Given the description of an element on the screen output the (x, y) to click on. 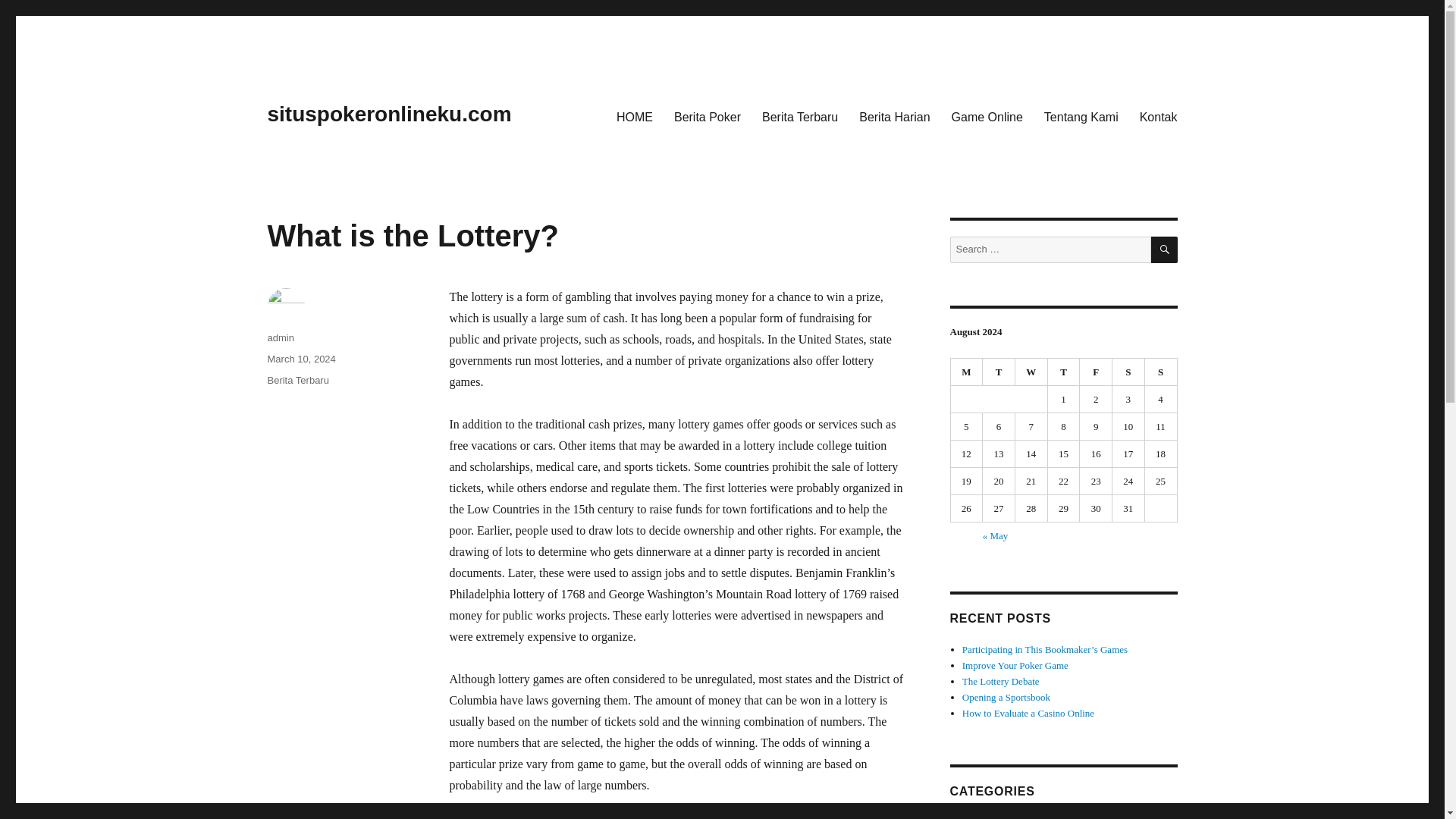
The Lottery Debate (1000, 681)
Thursday (1064, 371)
Saturday (1128, 371)
Berita Harian (988, 817)
SEARCH (1164, 249)
situspokeronlineku.com (388, 114)
Tuesday (998, 371)
Friday (1096, 371)
HOME (634, 116)
March 10, 2024 (300, 358)
